Given the description of an element on the screen output the (x, y) to click on. 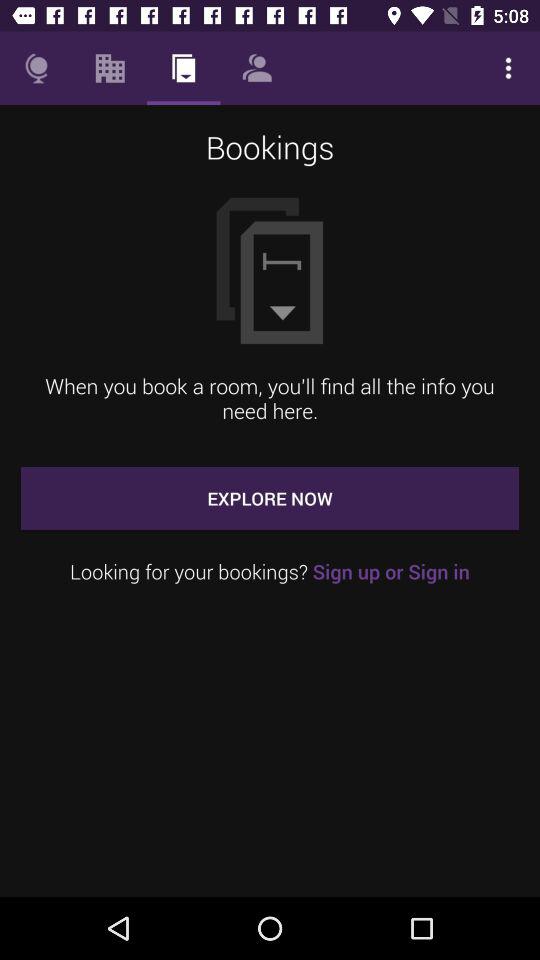
scroll until the looking for your item (270, 571)
